Given the description of an element on the screen output the (x, y) to click on. 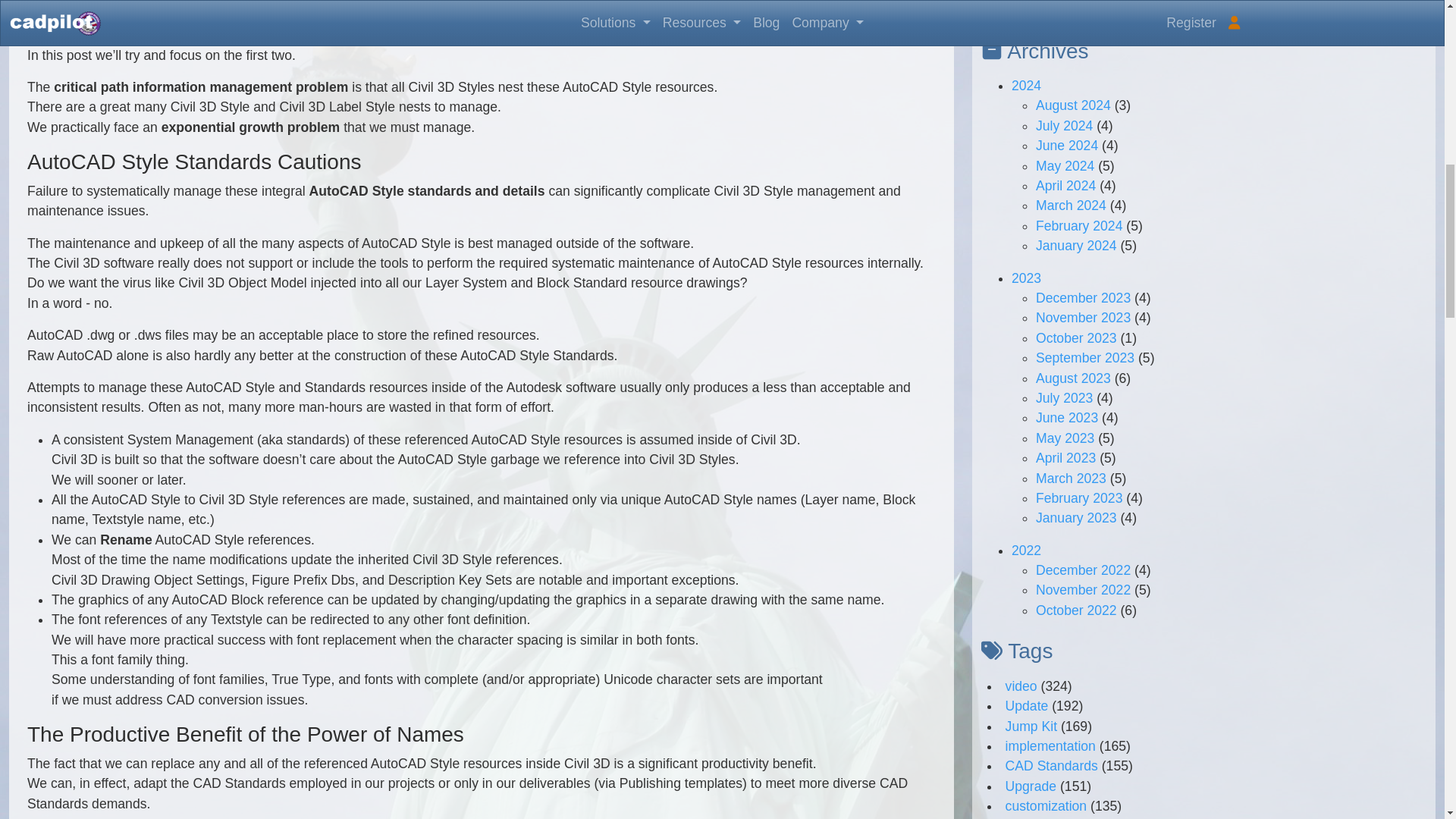
April 2024 (1065, 185)
July 2024 (1064, 125)
May 2024 (1064, 165)
June 2024 (1066, 145)
August 2024 (1072, 105)
